Given the description of an element on the screen output the (x, y) to click on. 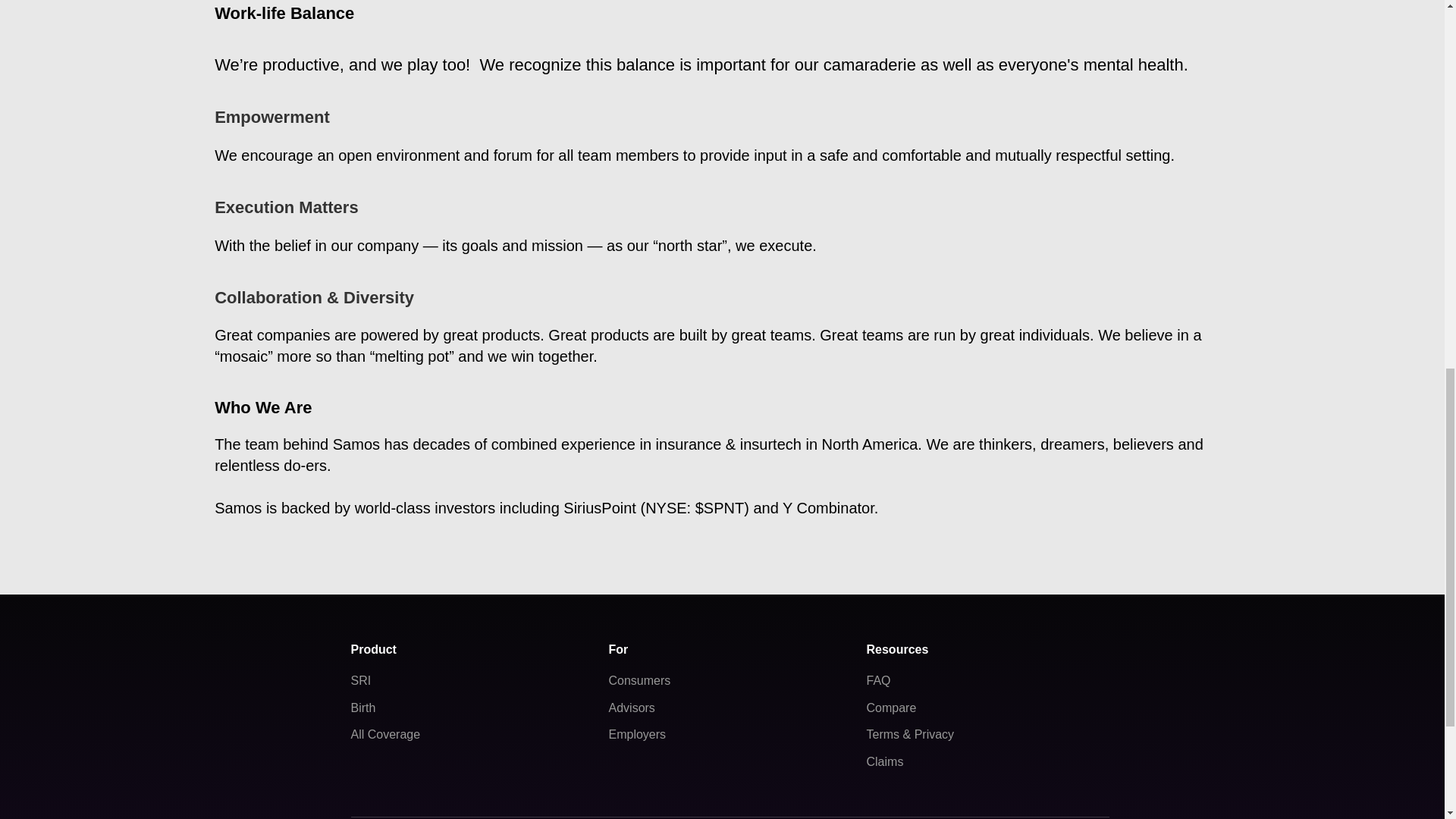
All Coverage (385, 734)
Claims (884, 761)
Advisors (630, 707)
FAQ (877, 680)
Consumers (638, 680)
Privacy (933, 734)
SRI (360, 680)
Birth (362, 707)
Compare (890, 707)
Employers (636, 734)
